Given the description of an element on the screen output the (x, y) to click on. 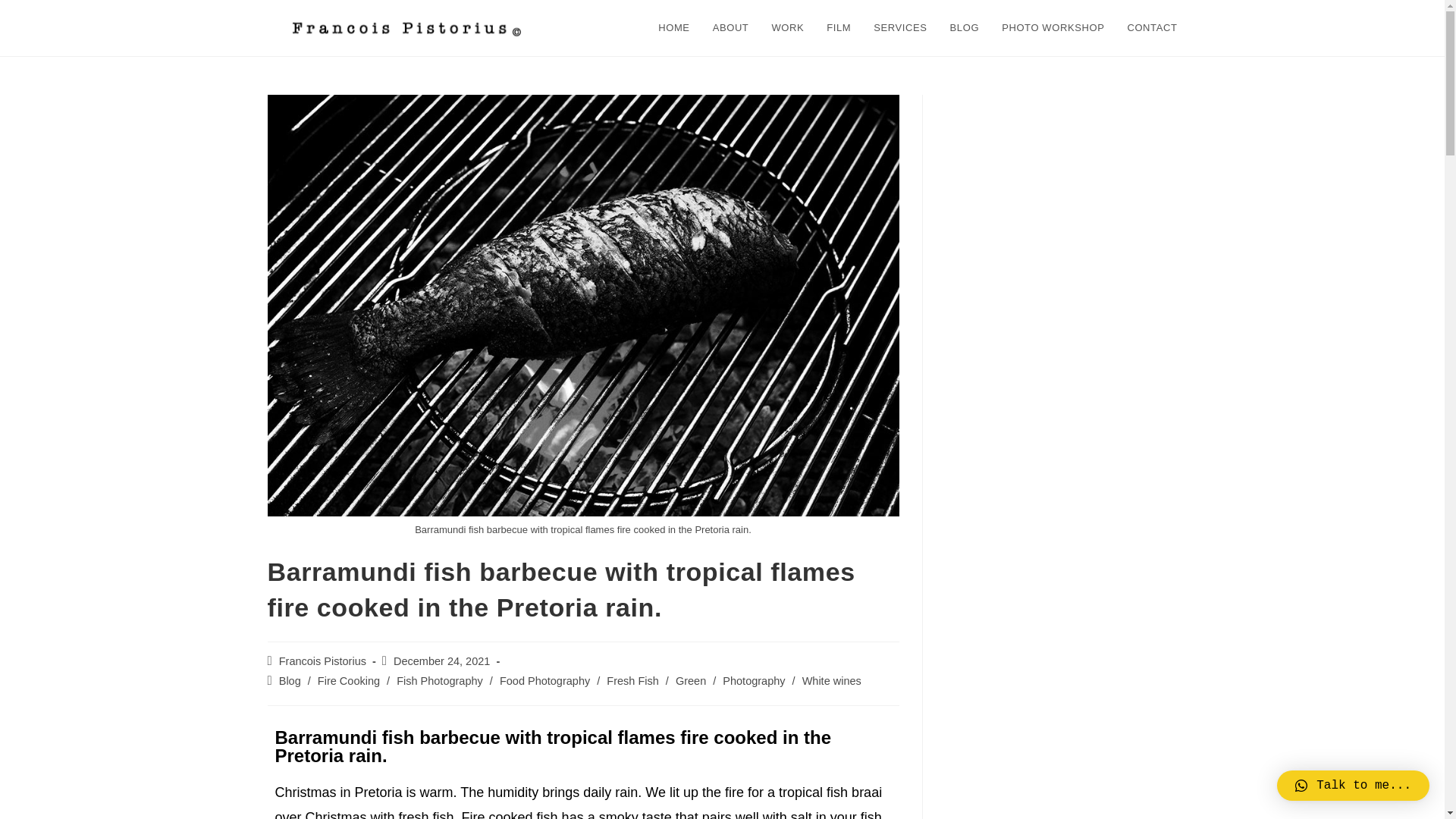
SERVICES (899, 28)
HOME (673, 28)
WORK (787, 28)
Posts by Francois Pistorius (322, 661)
Green (690, 680)
Food Photography (544, 680)
CONTACT (1151, 28)
Blog (290, 680)
BLOG (965, 28)
Francois Pistorius (322, 661)
